Given the description of an element on the screen output the (x, y) to click on. 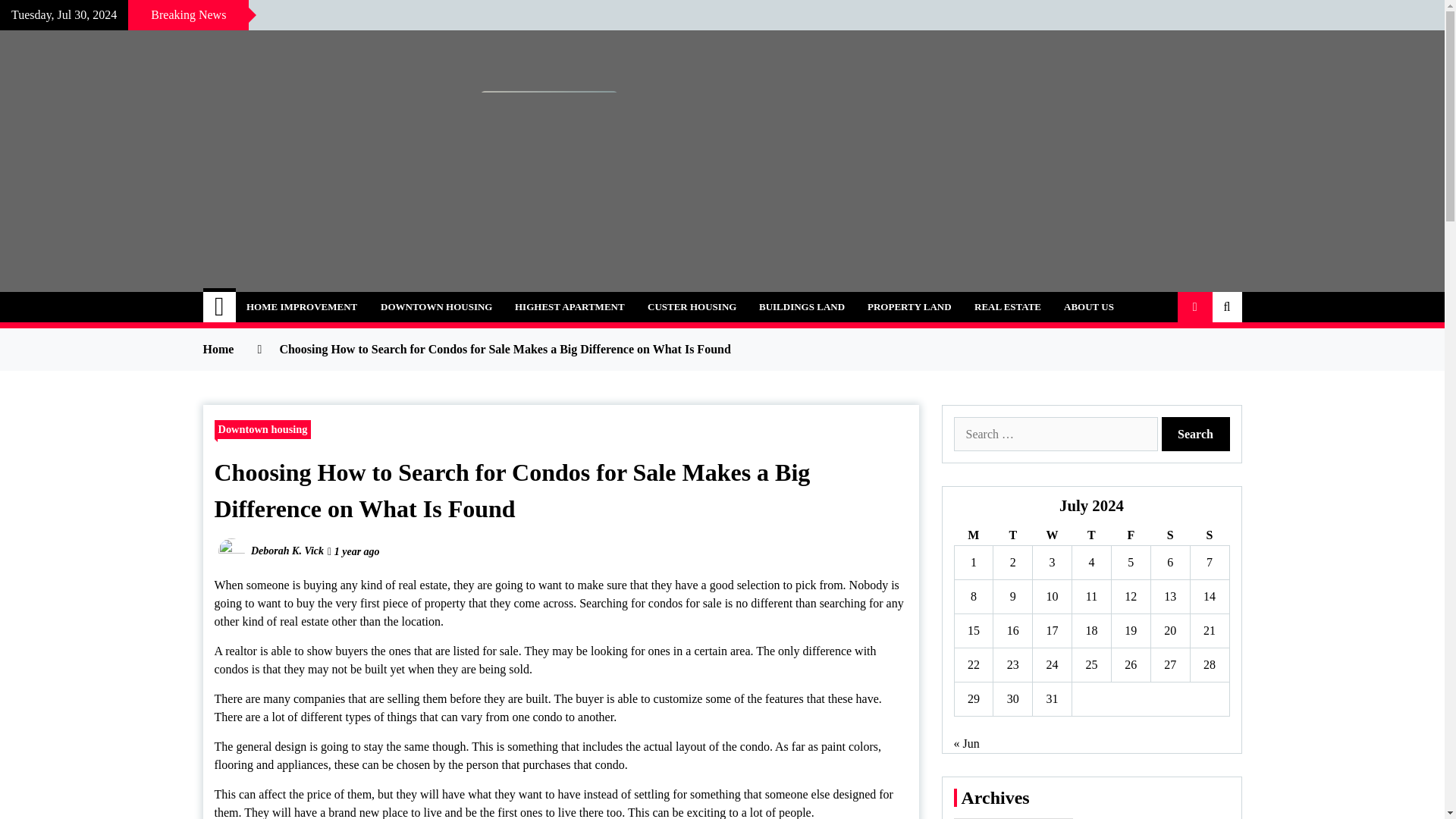
BUILDINGS LAND (802, 306)
Monday (972, 535)
CUSTER HOUSING (692, 306)
Tuesday (1012, 535)
DOWNTOWN HOUSING (436, 306)
Search (1195, 433)
REAL ESTATE (1007, 306)
Home (219, 306)
Friday (1130, 535)
HOME IMPROVEMENT (301, 306)
Search (1195, 433)
Saturday (1169, 535)
Botequim (274, 298)
HIGHEST APARTMENT (569, 306)
Sunday (1208, 535)
